Given the description of an element on the screen output the (x, y) to click on. 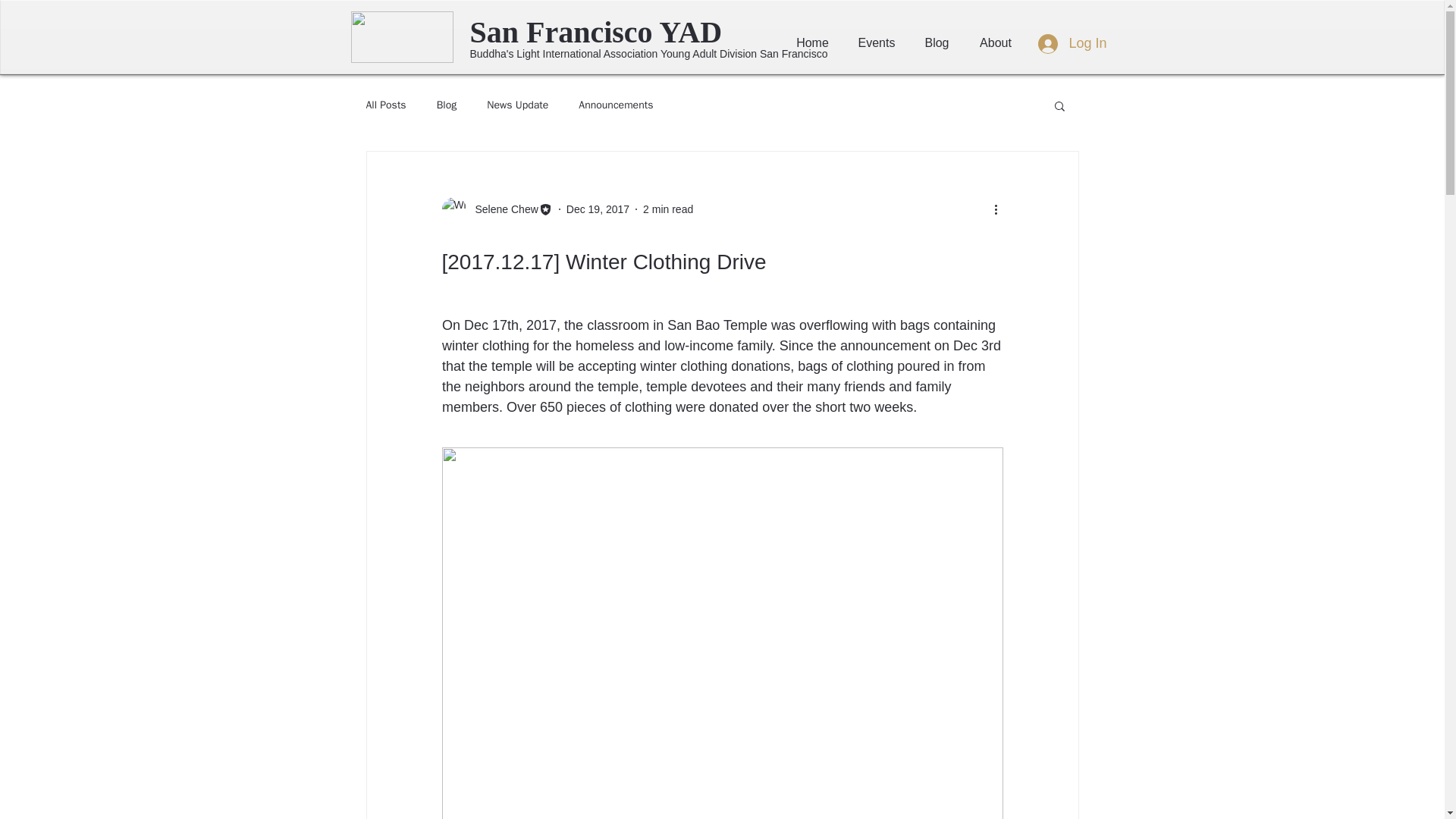
2 min read (668, 209)
Log In (1071, 42)
Events (875, 43)
All Posts (385, 105)
News Update (517, 105)
About (995, 43)
Selene Chew (501, 209)
Announcements (615, 105)
Dec 19, 2017 (597, 209)
Blog (446, 105)
Blog (936, 43)
Home (811, 43)
Selene Chew (496, 209)
San Francisco YAD (619, 32)
